Given the description of an element on the screen output the (x, y) to click on. 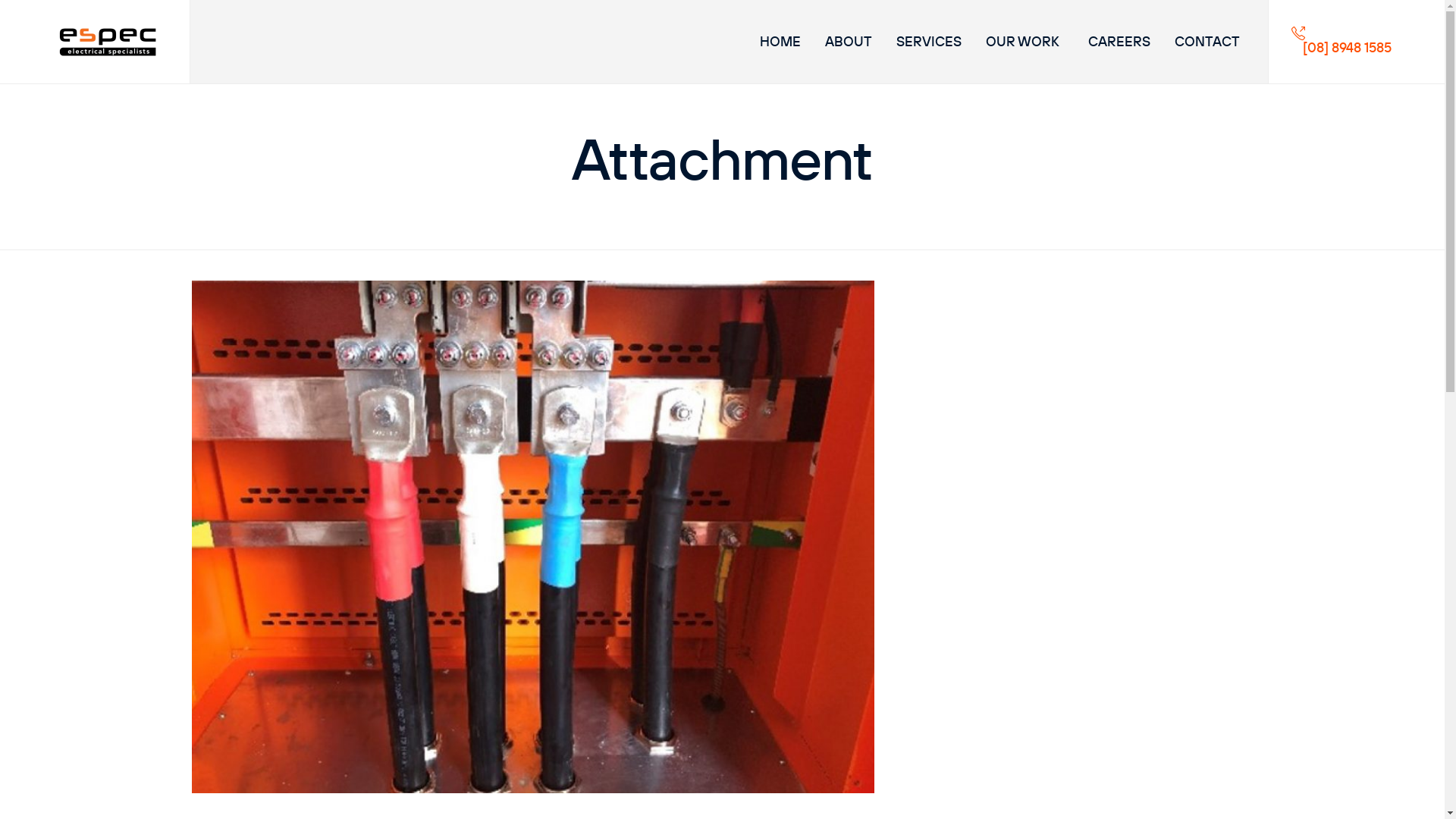
CAREERS Element type: text (1116, 41)
[08] 8948 1585 Element type: text (1341, 41)
CONTACT Element type: text (1203, 41)
OUR WORK Element type: text (1021, 41)
HOME Element type: text (776, 41)
ABOUT Element type: text (845, 41)
ESPEC Element type: hover (109, 41)
Palmerston-Central-1 Element type: hover (532, 789)
SERVICES Element type: text (925, 41)
